Given the description of an element on the screen output the (x, y) to click on. 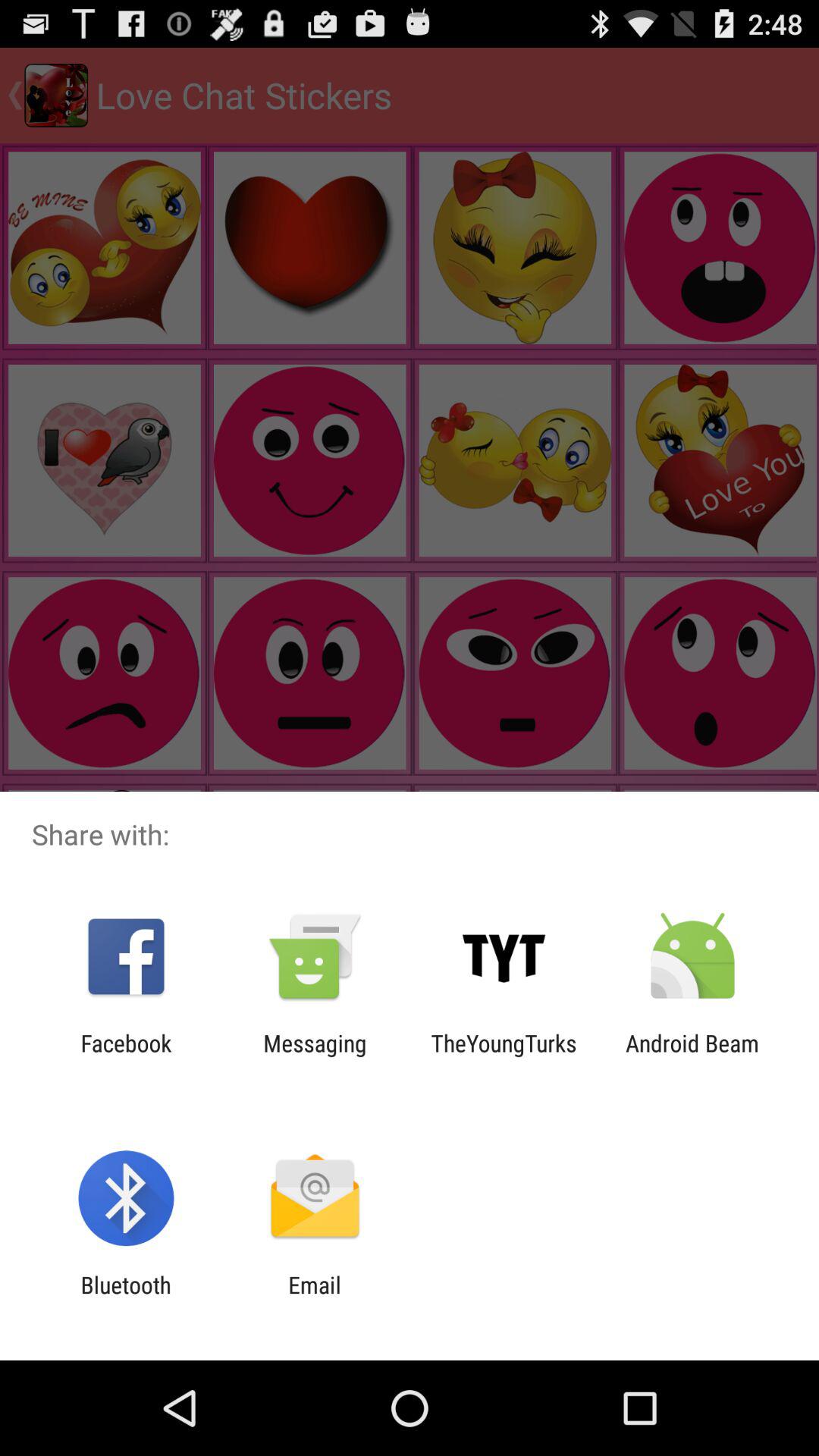
press the icon to the right of theyoungturks (692, 1056)
